Given the description of an element on the screen output the (x, y) to click on. 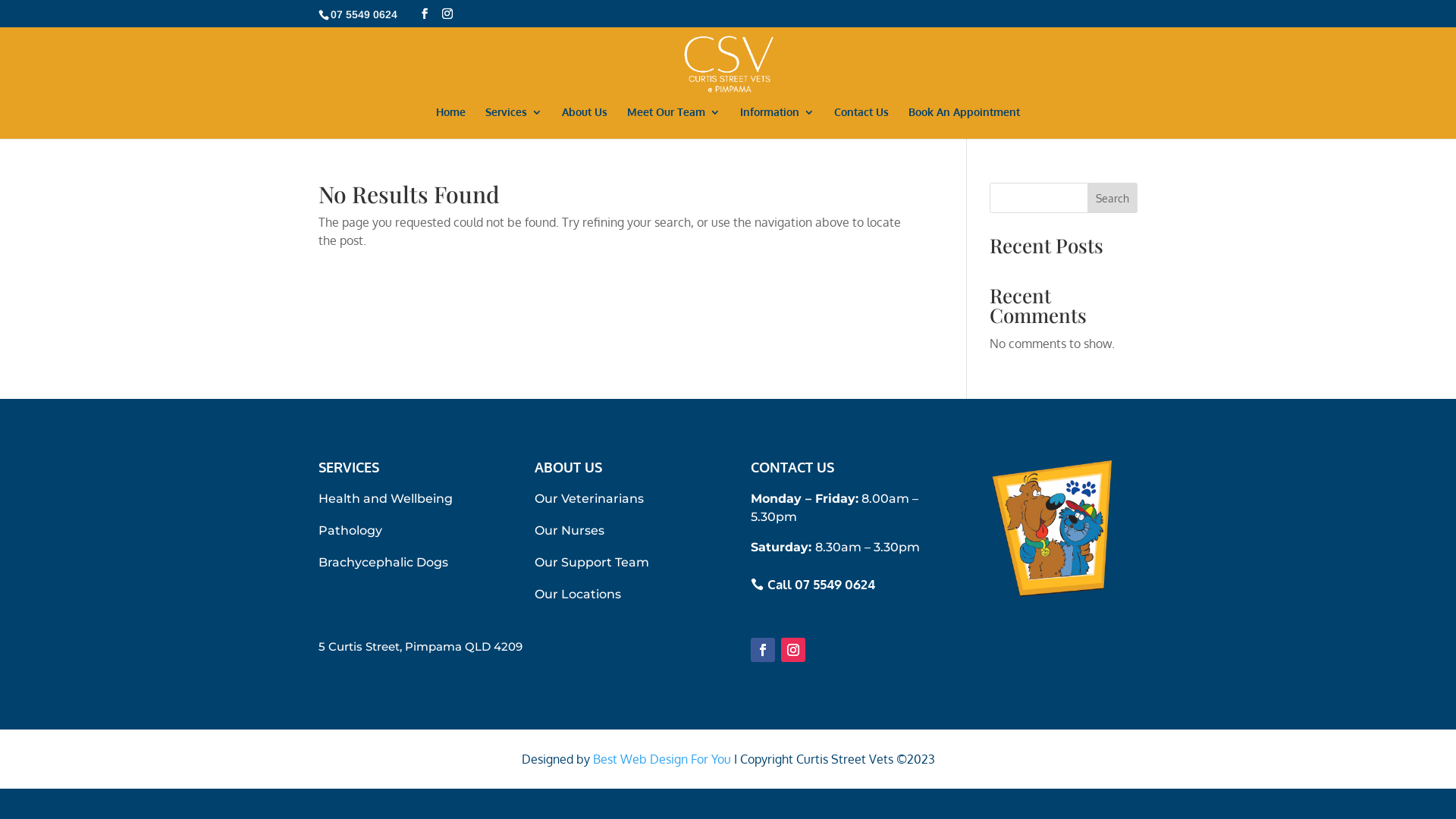
Information Element type: text (777, 122)
Book An Appointment Element type: text (963, 122)
Contact Us Element type: text (861, 122)
Services Element type: text (513, 122)
About Us Element type: text (584, 122)
Home Element type: text (450, 122)
Best Web Design For You Element type: text (662, 758)
Meet Our Team Element type: text (673, 122)
Call 07 5549 0624 Element type: text (812, 583)
Follow on Facebook Element type: hover (762, 649)
Follow on Instagram Element type: hover (793, 649)
Search Element type: text (1112, 197)
ON-Logo_large_20April21- Element type: hover (1051, 528)
